Given the description of an element on the screen output the (x, y) to click on. 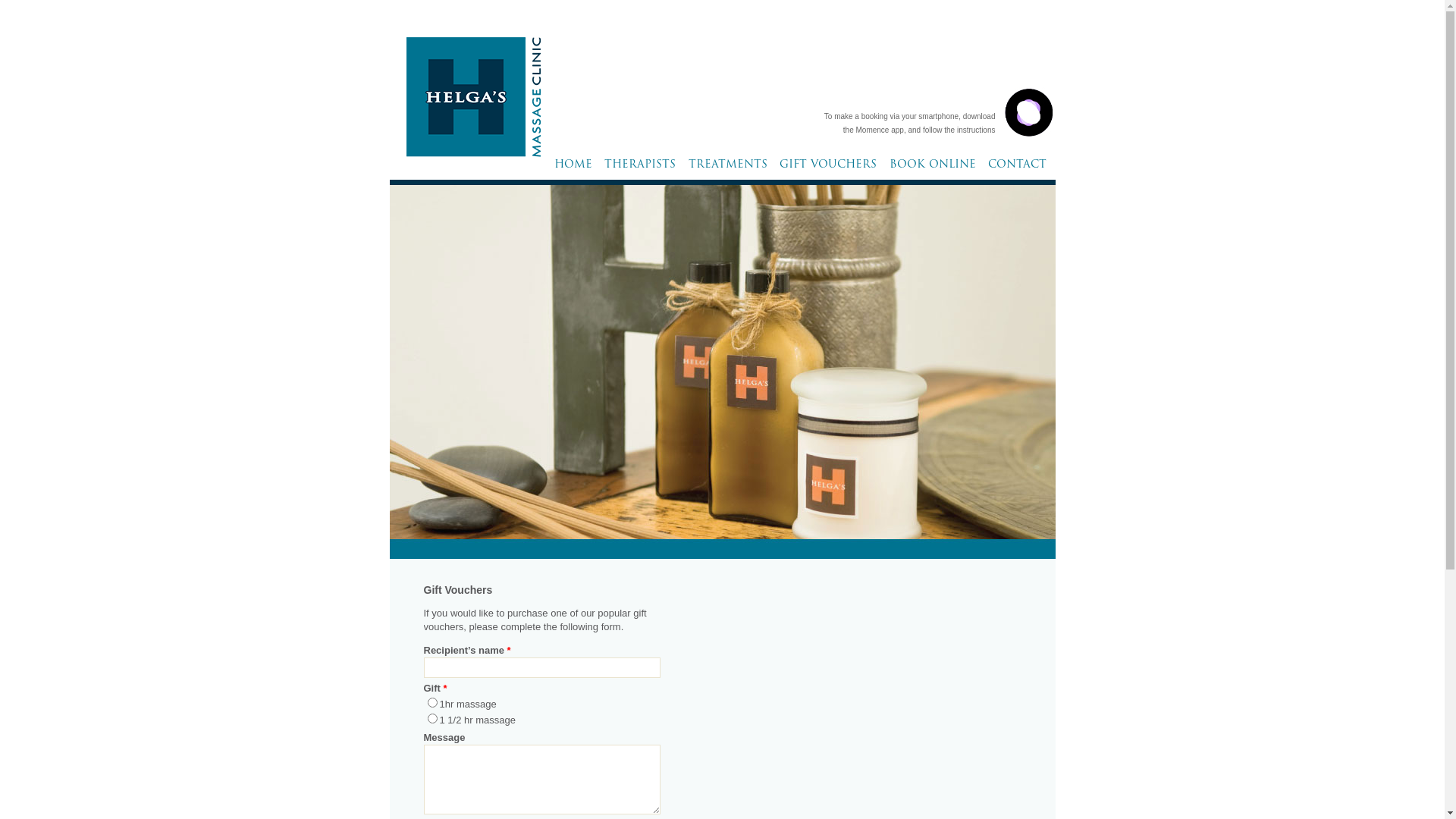
GIFT VOUCHERS Element type: text (827, 167)
THERAPISTS Element type: text (639, 167)
HOME Element type: text (573, 167)
CONTACT Element type: text (1017, 167)
TREATMENTS Element type: text (727, 167)
BOOK ONLINE Element type: text (932, 167)
